Given the description of an element on the screen output the (x, y) to click on. 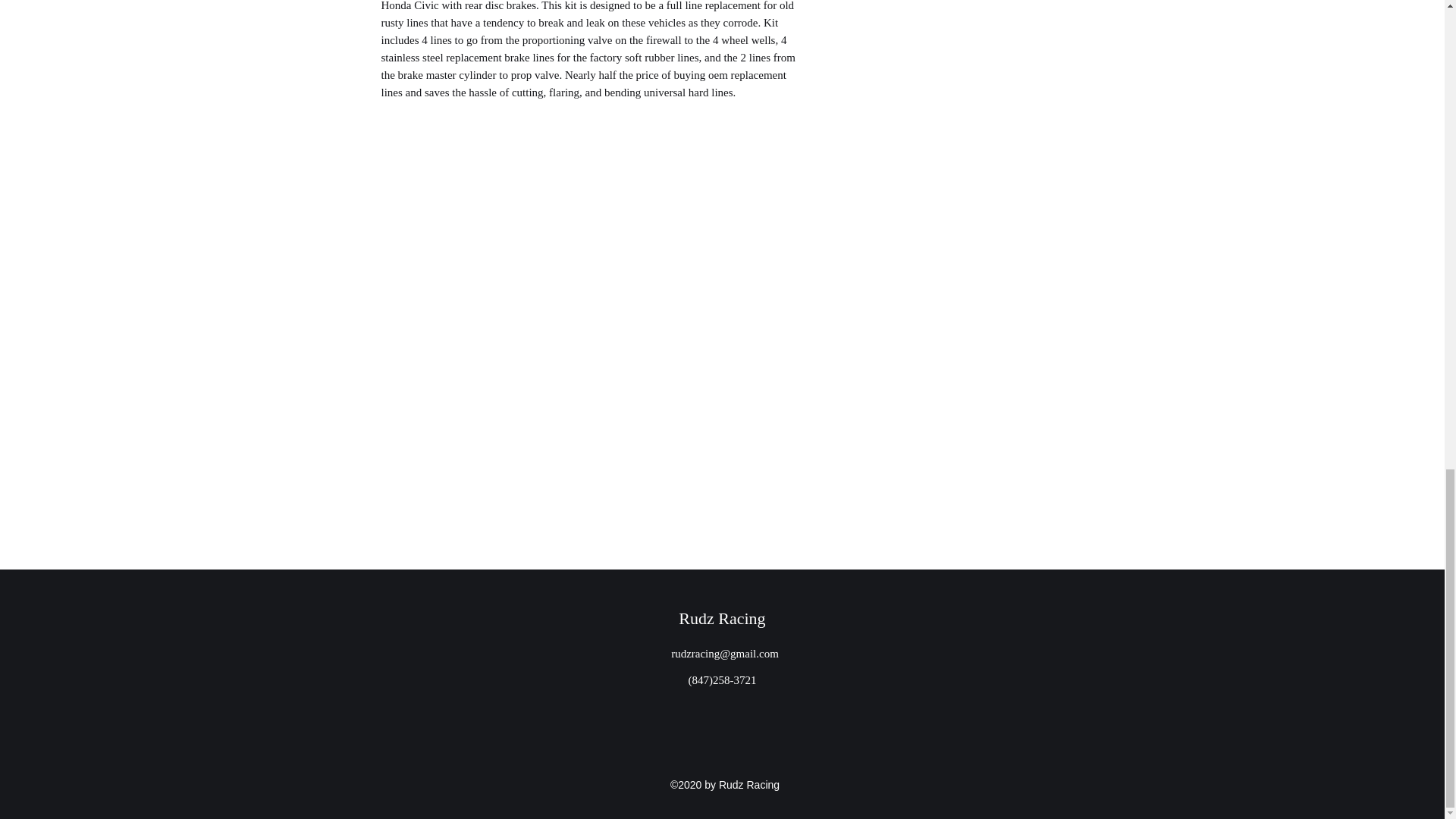
Rudz Racing (721, 618)
